Given the description of an element on the screen output the (x, y) to click on. 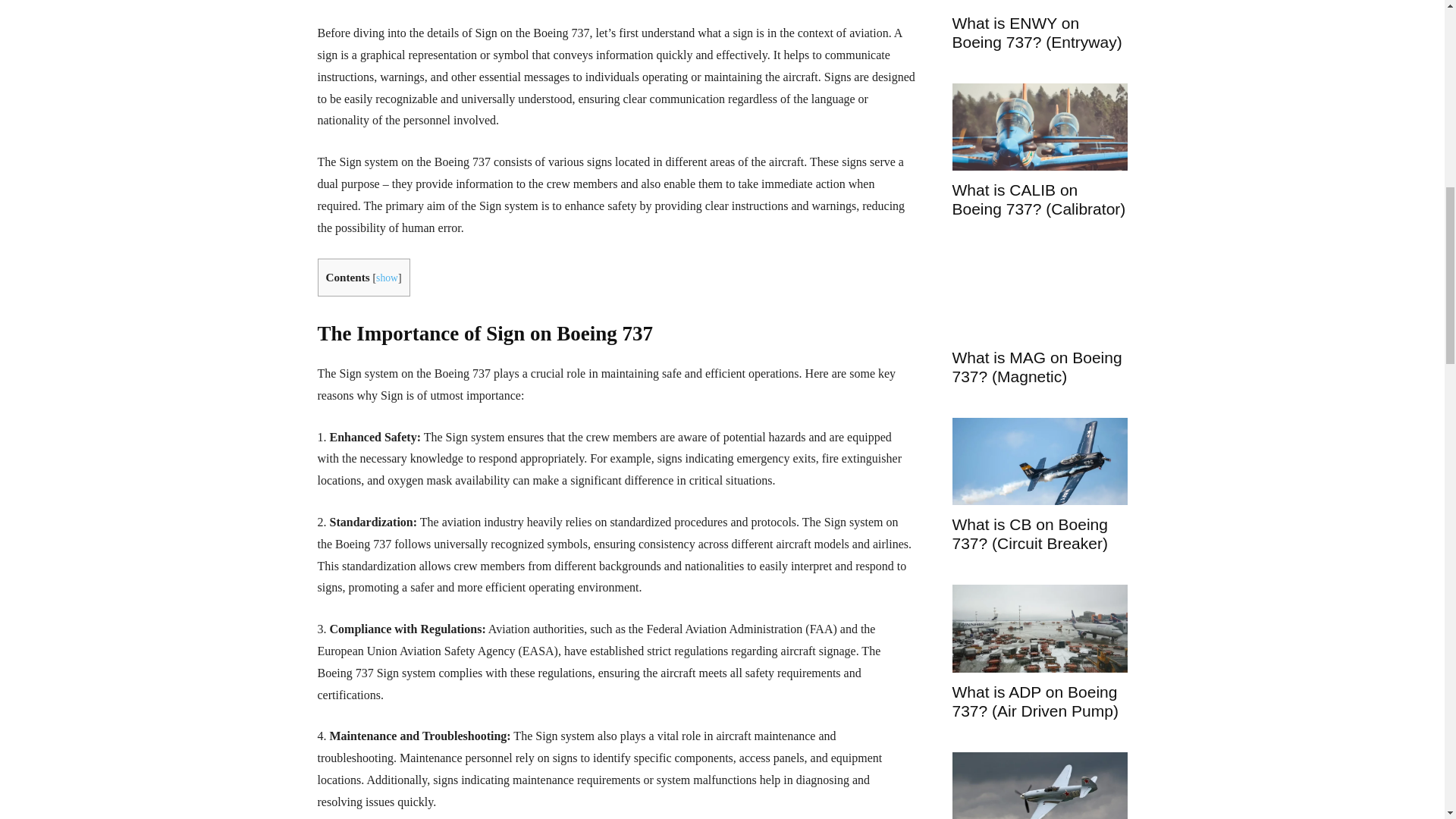
show (386, 277)
